Given the description of an element on the screen output the (x, y) to click on. 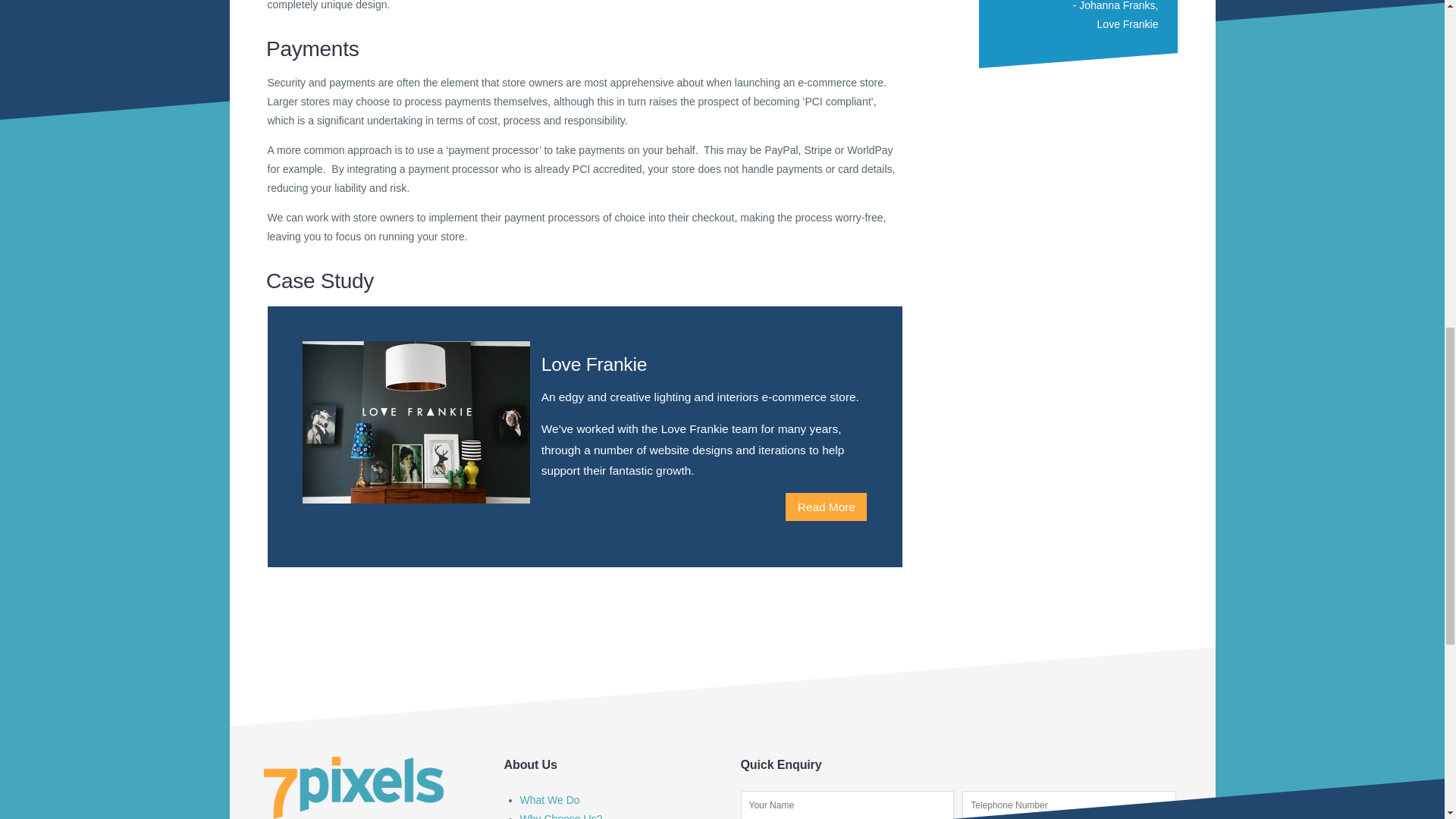
What We Do (549, 799)
Love Frankie (1127, 24)
Why Choose Us? (560, 816)
Read More (826, 506)
